Given the description of an element on the screen output the (x, y) to click on. 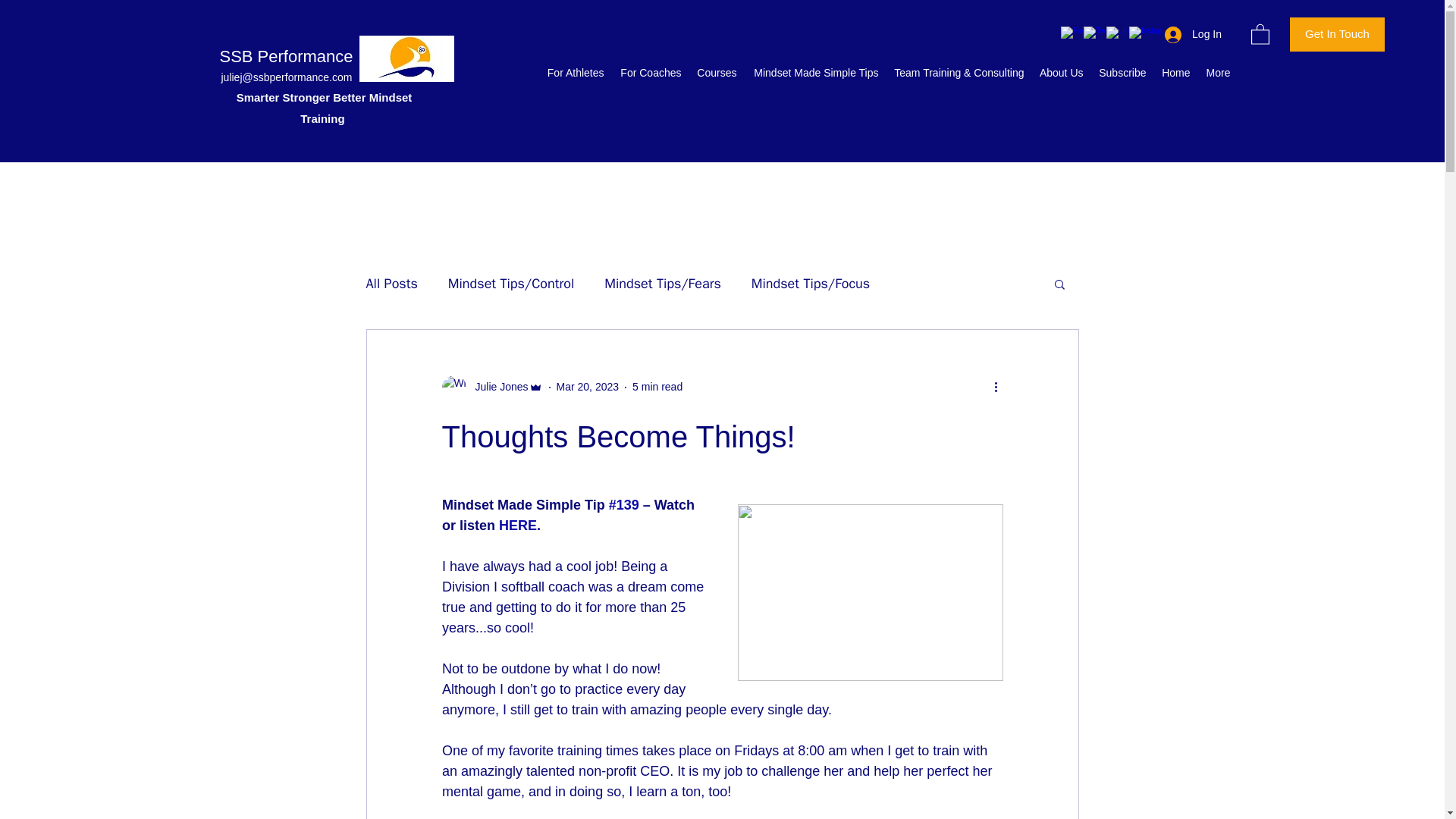
5 min read (656, 386)
All Posts (390, 283)
Mindset Made Simple Tips (815, 72)
About Us (1060, 72)
For Coaches (649, 72)
Courses (716, 72)
Mar 20, 2023 (588, 386)
Log In (1192, 34)
Subscribe (1121, 72)
Julie Jones (496, 386)
For Athletes (574, 72)
Home (1176, 72)
SSB Motion logo only.jpg (406, 58)
Get In Touch (1337, 34)
